Given the description of an element on the screen output the (x, y) to click on. 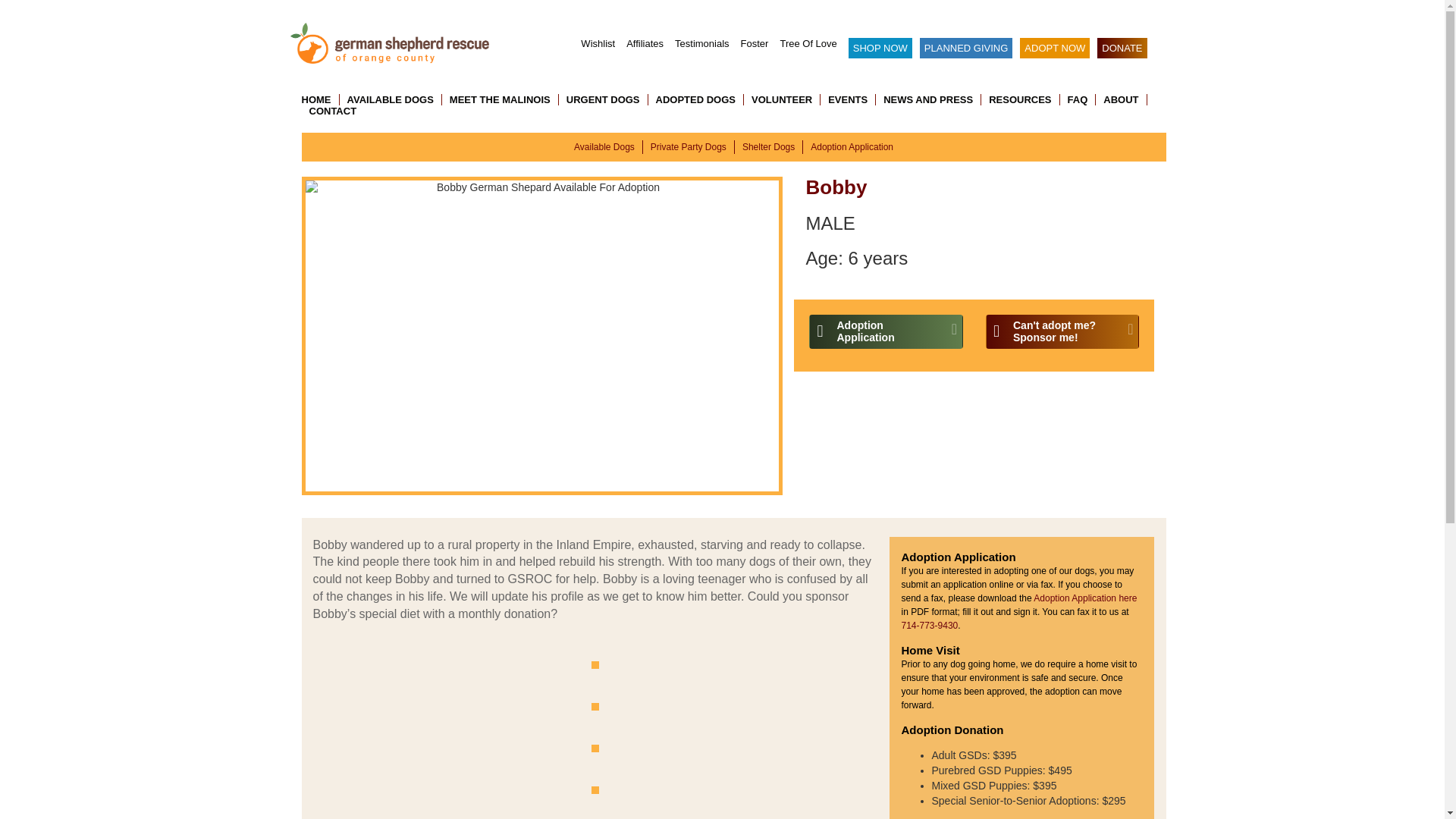
ADOPT NOW (1054, 47)
FAQ (1077, 99)
ABOUT (885, 331)
Private Party Dogs (1121, 99)
Foster (688, 146)
CONTACT (754, 43)
MEET THE MALINOIS (328, 111)
Wishlist (500, 99)
Affiliates (597, 43)
